Given the description of an element on the screen output the (x, y) to click on. 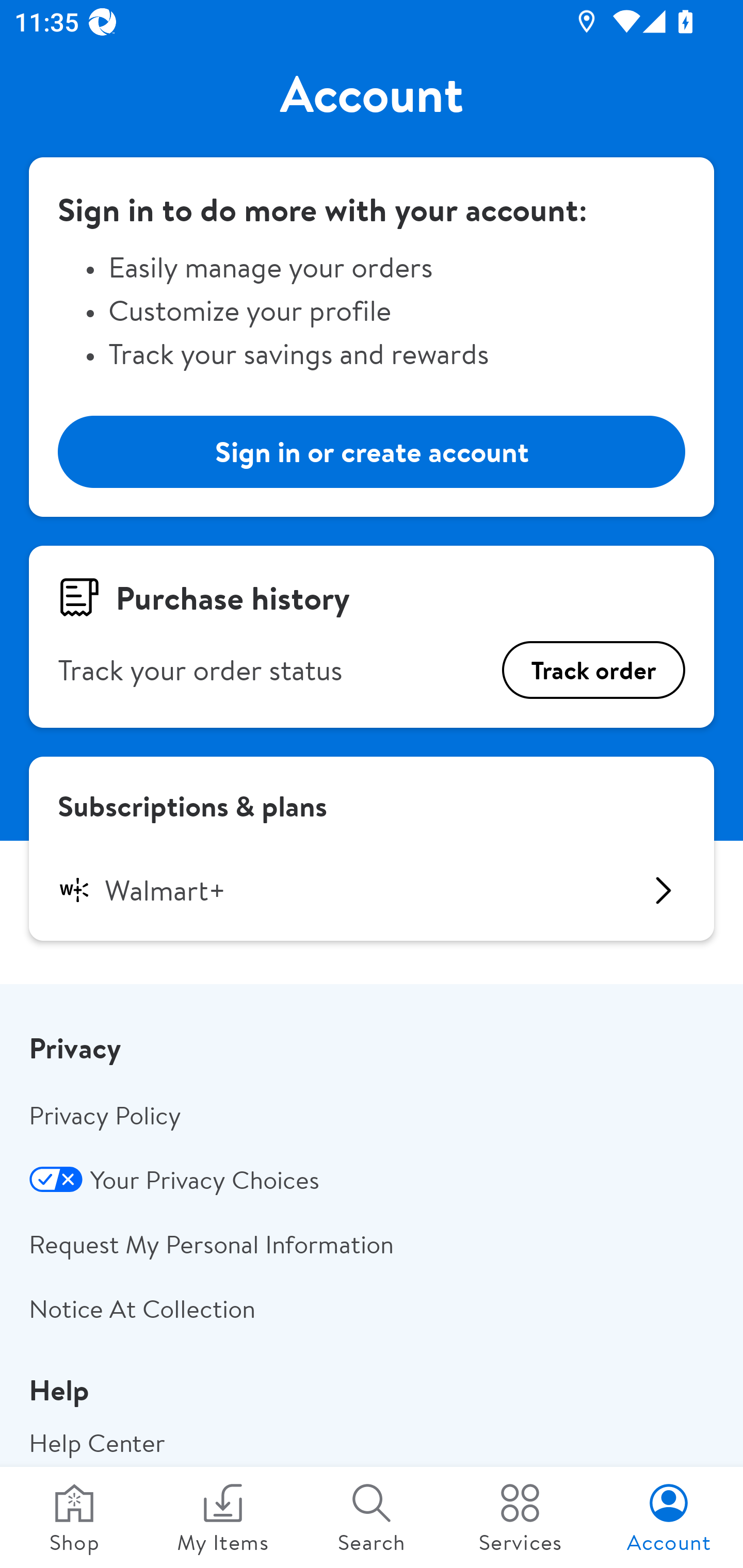
Sign in or create account (371, 451)
Track order (593, 670)
Walmart+ (371, 890)
Privacy Policy (371, 1114)
Your Privacy Choices (371, 1179)
Request My Personal Information (371, 1244)
Notice At Collection (371, 1308)
Help Center (371, 1441)
Shop (74, 1517)
My Items (222, 1517)
Search (371, 1517)
Services (519, 1517)
